Given the description of an element on the screen output the (x, y) to click on. 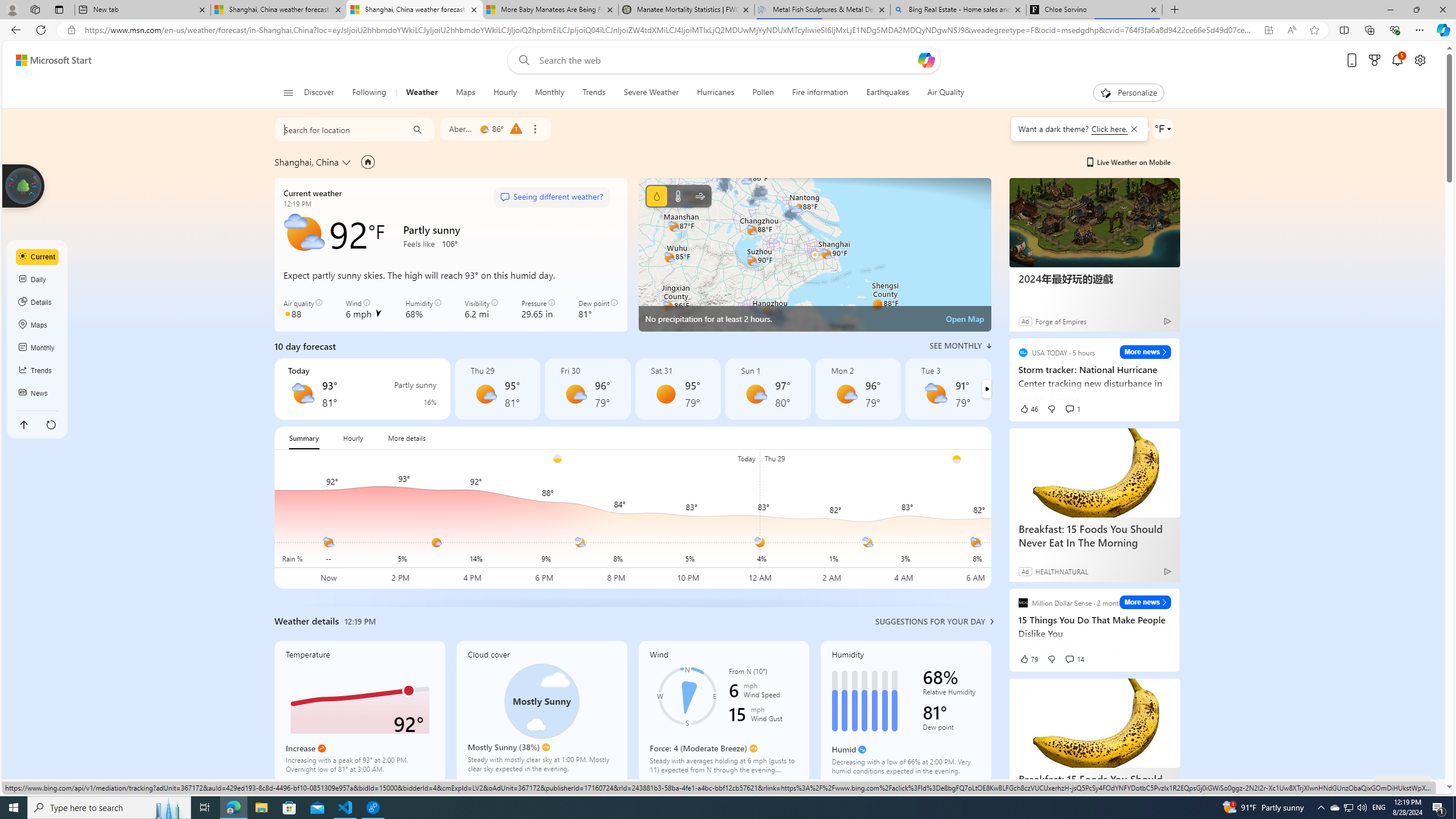
Precipitation (656, 195)
Wind (723, 711)
Maps (37, 325)
Weather (422, 92)
Daily (37, 279)
Refresh (40, 29)
Chloe Sorvino (1094, 9)
Monthly (549, 92)
Your Privacy Choices (987, 785)
Hourly (352, 437)
Class: feedback_link_icon-DS-EntryPoint1-1 (1384, 786)
Ad Choice (1166, 571)
